Given the description of an element on the screen output the (x, y) to click on. 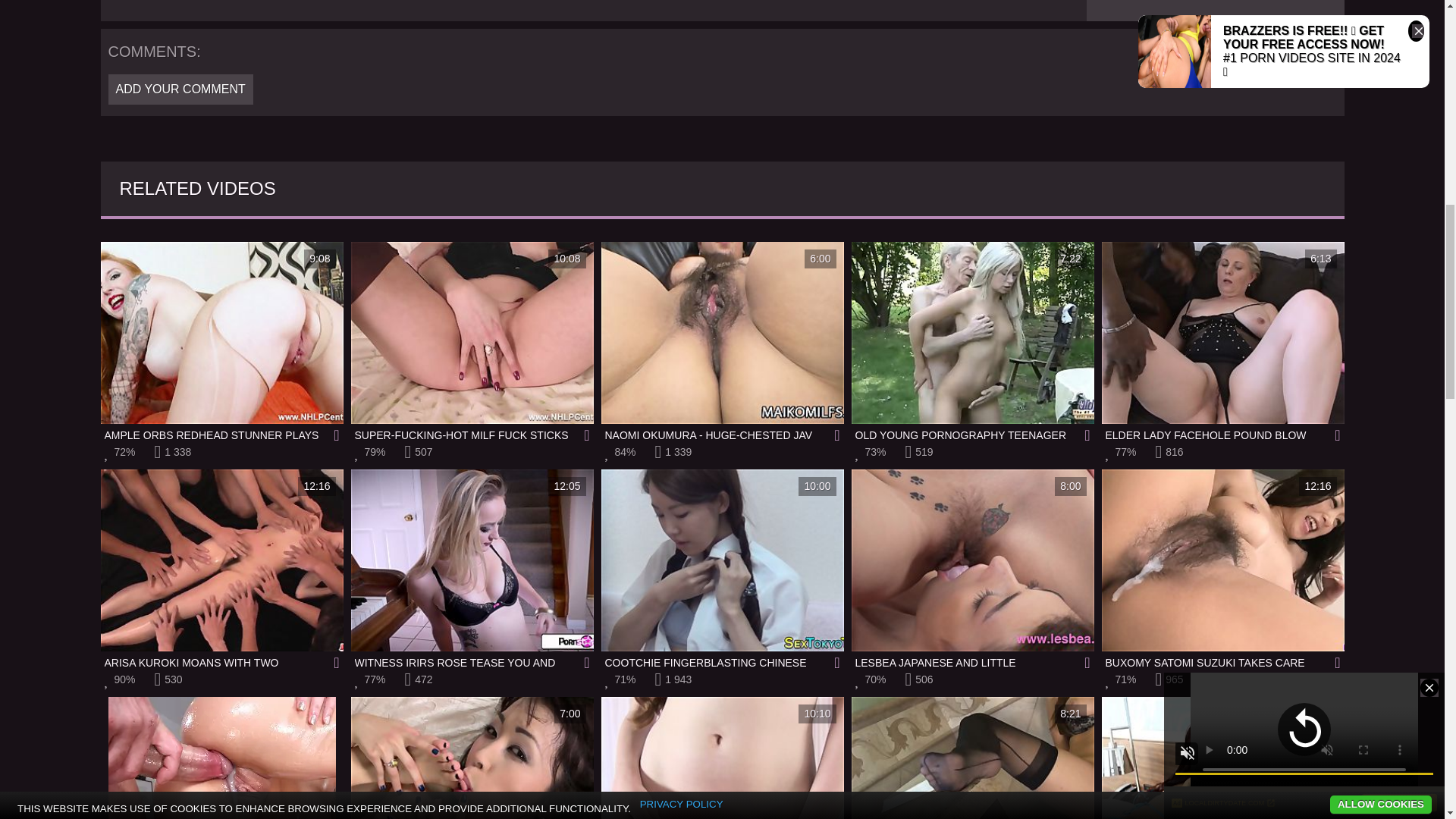
LESBEA JAPANESE AND LITTLE TEENAGER GF FACE SITTING (971, 569)
DIMINUTIVE TEENY ANGEL NAMED ROSSY GETS MISCHIEVOUS (721, 757)
LEYLA DARK-HUED AND MARICA HASE USE SOLES (471, 757)
AMPLE ORBS REDHEAD STUNNER PLAYS WITH EDIBLE STOCKINGS LABIA (221, 342)
ARISA KUROKI MOANS WITH TWO PENISES IN HER COOCH AND BOOTIE (221, 569)
BUXOMY SATOMI SUZUKI TAKES CARE OF 2 LARGE FUCK-STICKS (1221, 569)
COOTCHIE FINGERBLASTING CHINESE TEENAGER (721, 569)
KOBI BRIAN AND GINA VALENTINA TONGUING TWAT (221, 757)
WITNESS IRIRS ROSE TEASE YOU AND JERK ONLY FOR YOU (1221, 757)
ELDER LADY FACEHOLE POUND BLOW FELLATIO SWALLOWING JIZM (471, 569)
TAYLOR VIXEN LOOKS ADDITIONAL HOT IN DARK-HUED TIGHTS (1221, 342)
